Given the description of an element on the screen output the (x, y) to click on. 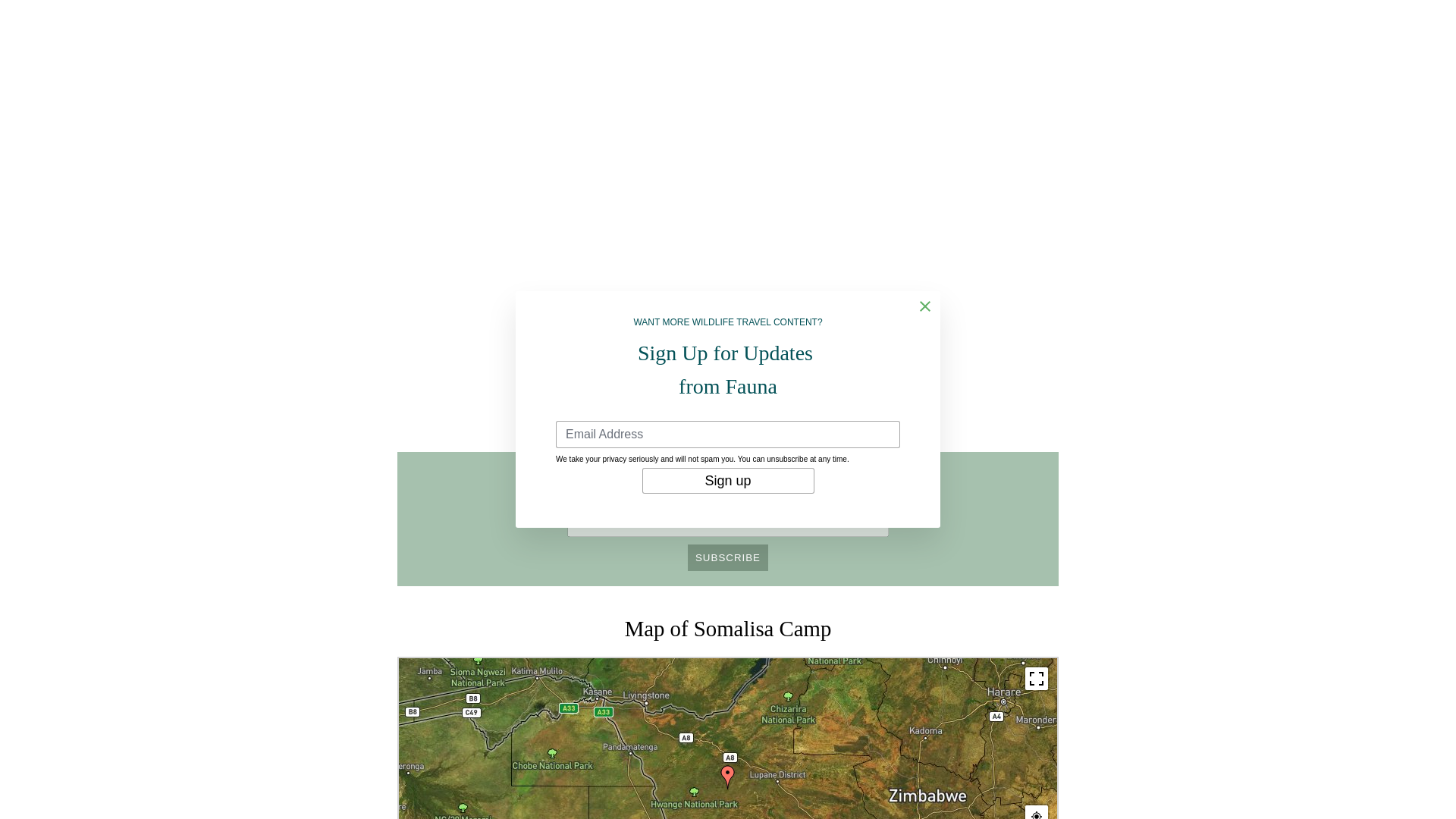
Subscribe (727, 557)
